Given the description of an element on the screen output the (x, y) to click on. 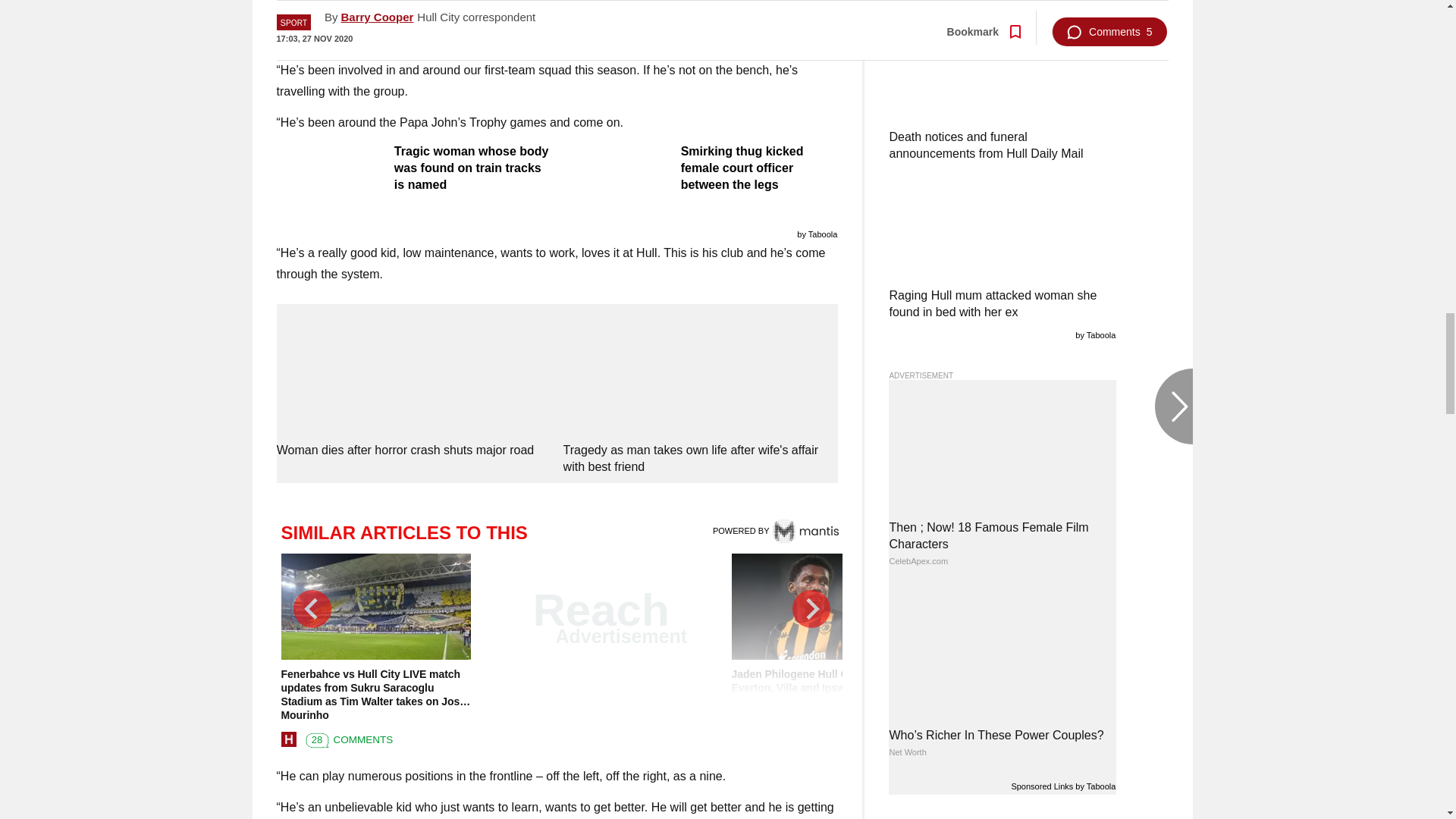
"Description: Quirke thought she had hit a traffic cone" (557, 24)
